Given the description of an element on the screen output the (x, y) to click on. 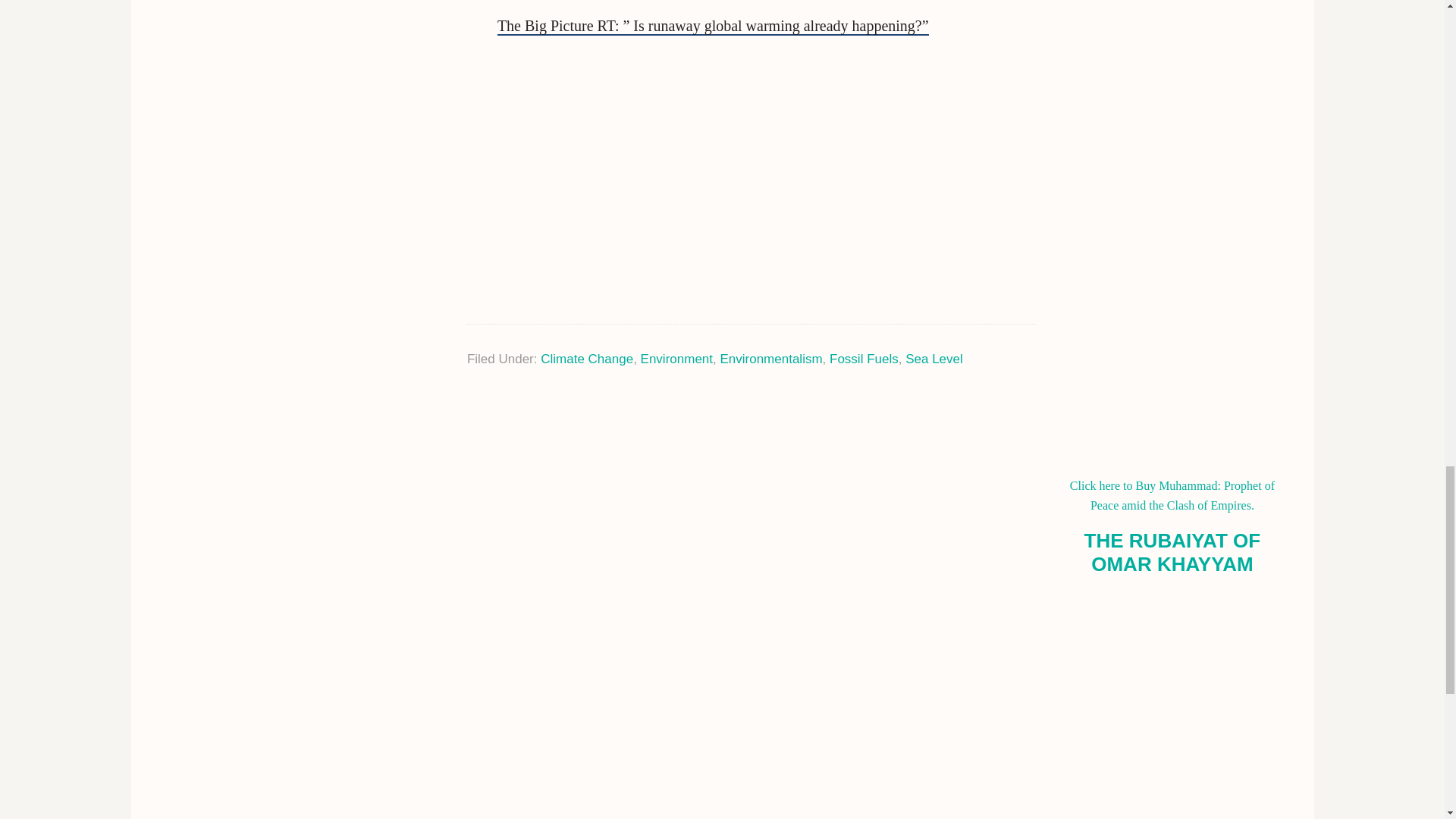
Climate Change (586, 359)
Environment (676, 359)
Environmentalism (770, 359)
